Given the description of an element on the screen output the (x, y) to click on. 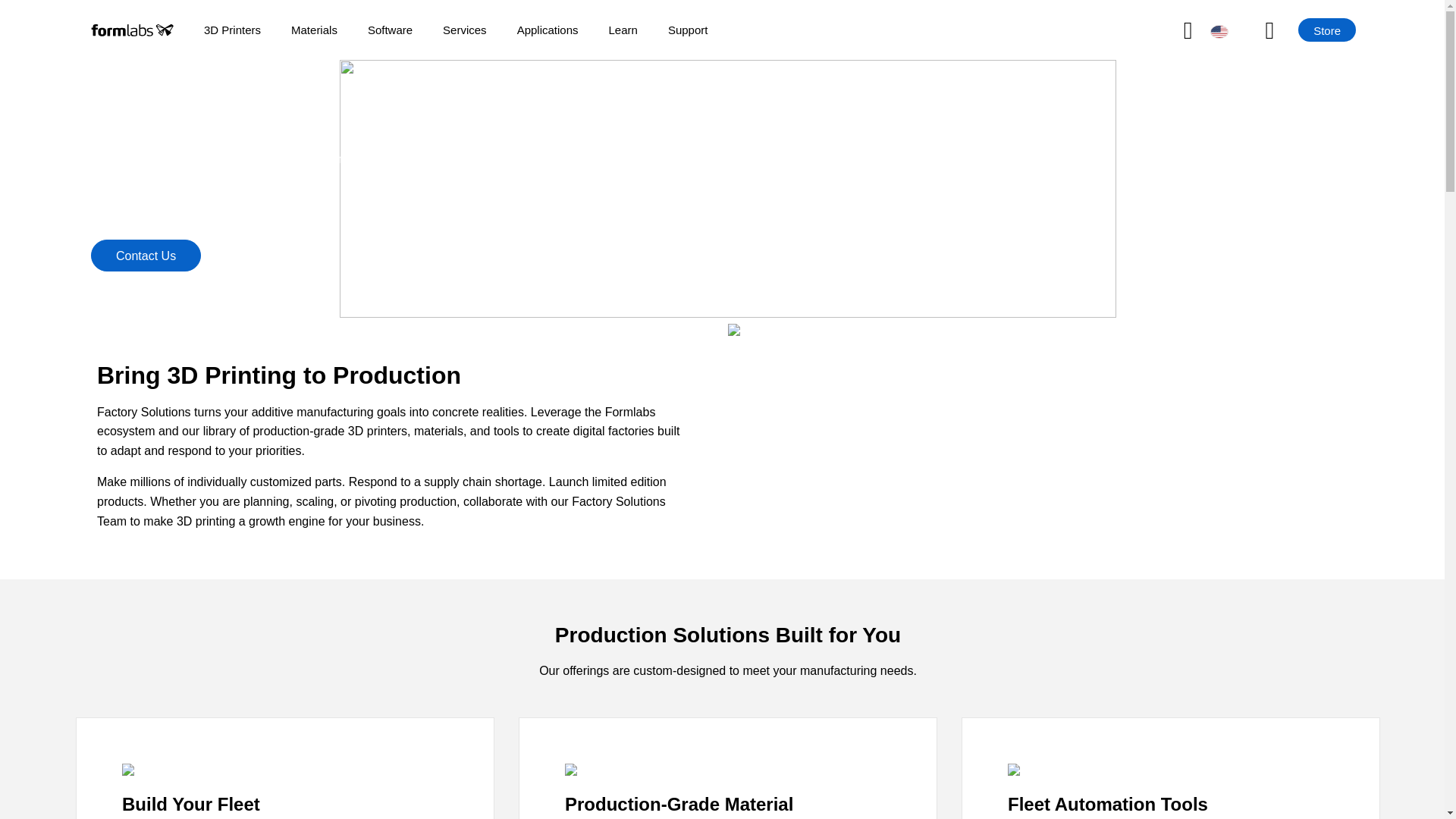
Store (1326, 29)
Support (687, 29)
Store (1326, 29)
3D Printers (231, 29)
Materials (314, 29)
Applications (547, 29)
Cart (1281, 30)
Software (390, 29)
Learn (622, 29)
Services (464, 29)
